Given the description of an element on the screen output the (x, y) to click on. 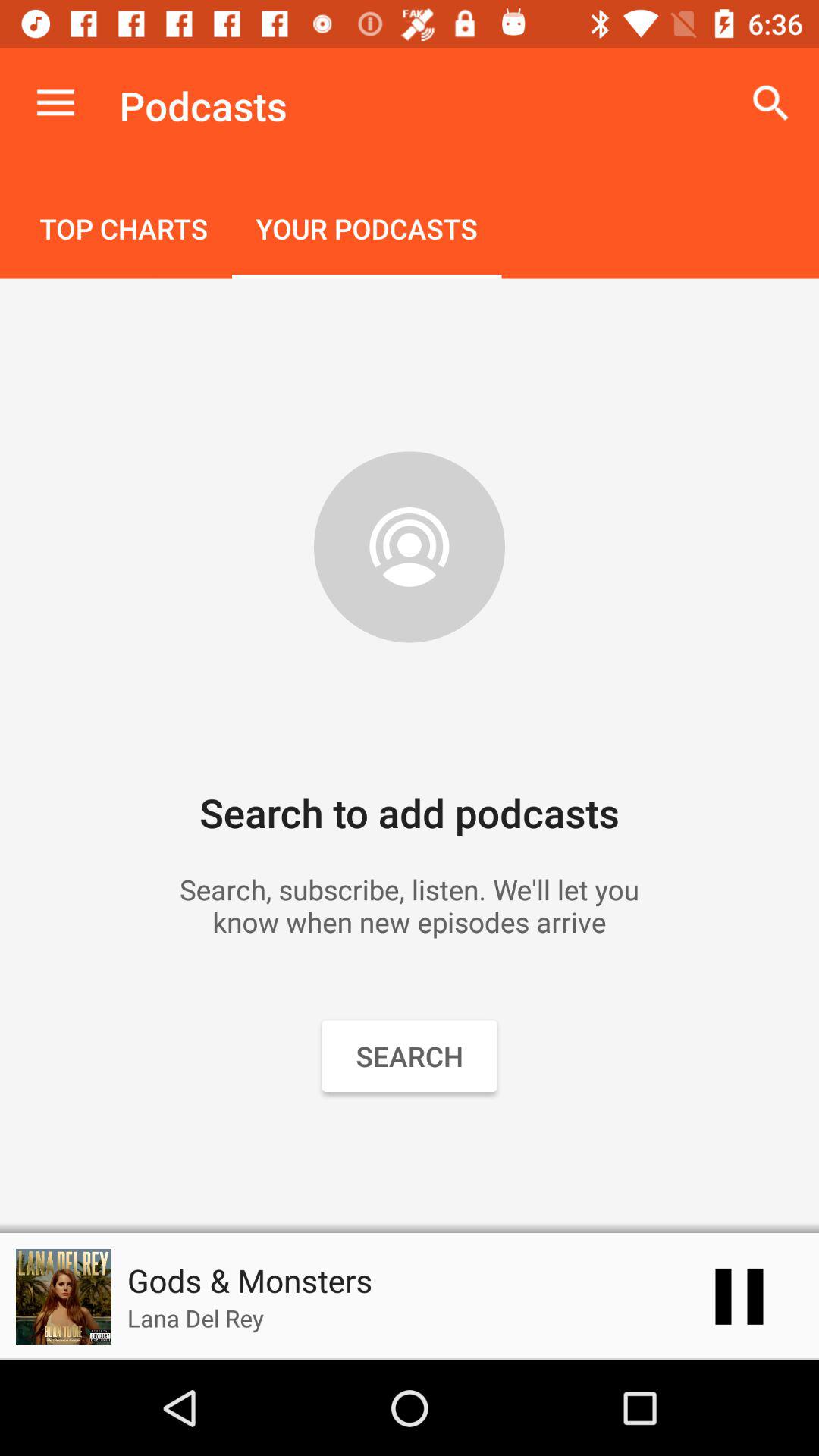
scroll until your podcasts (366, 230)
